Given the description of an element on the screen output the (x, y) to click on. 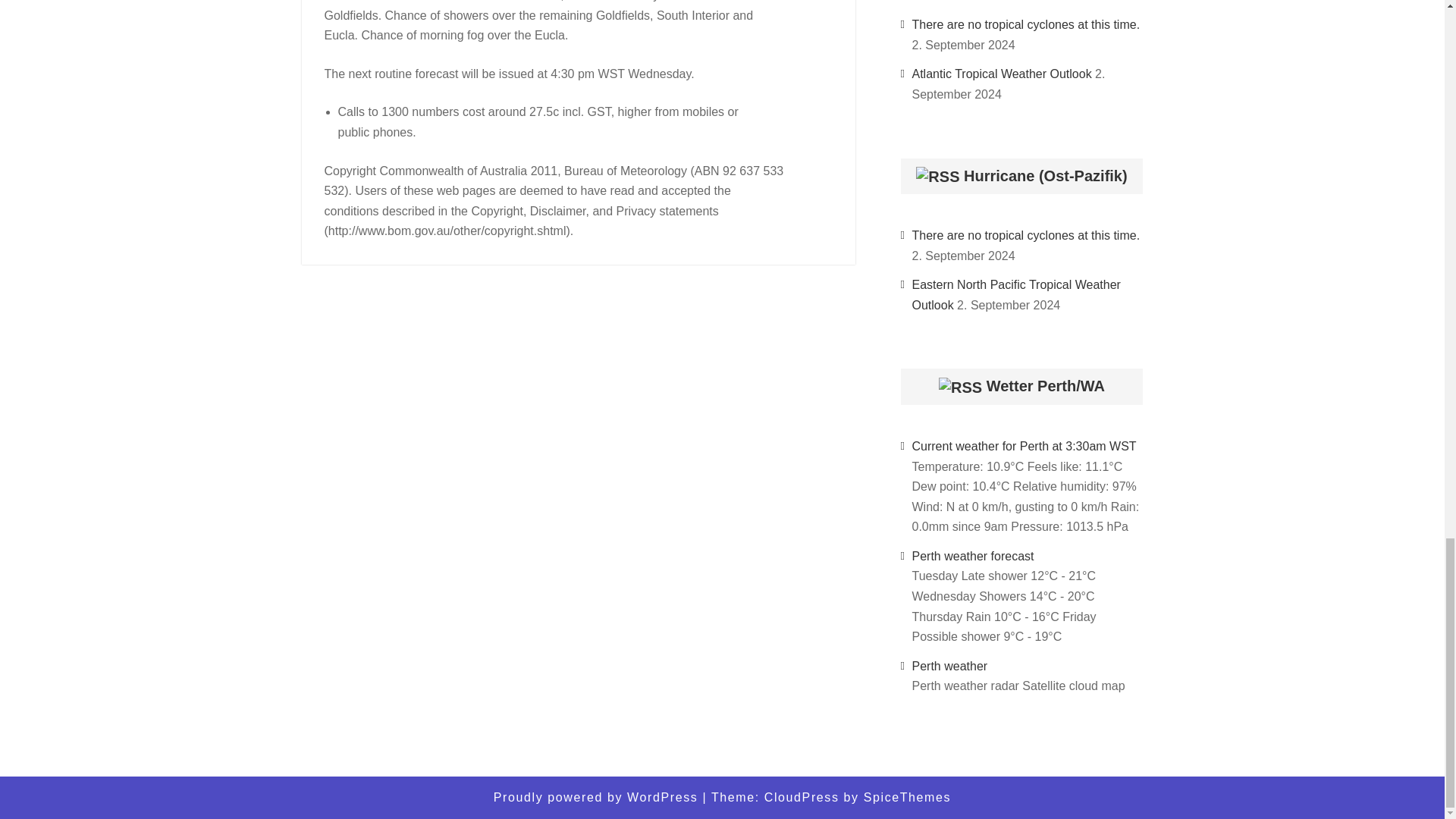
There are no tropical cyclones at this time. (1025, 24)
Perth weather forecast (972, 555)
There are no tropical cyclones at this time. (1025, 235)
Current weather for Perth at 3:30am WST (1023, 445)
Atlantic Tropical Weather Outlook (1000, 73)
Eastern North Pacific Tropical Weather Outlook (1015, 295)
